Given the description of an element on the screen output the (x, y) to click on. 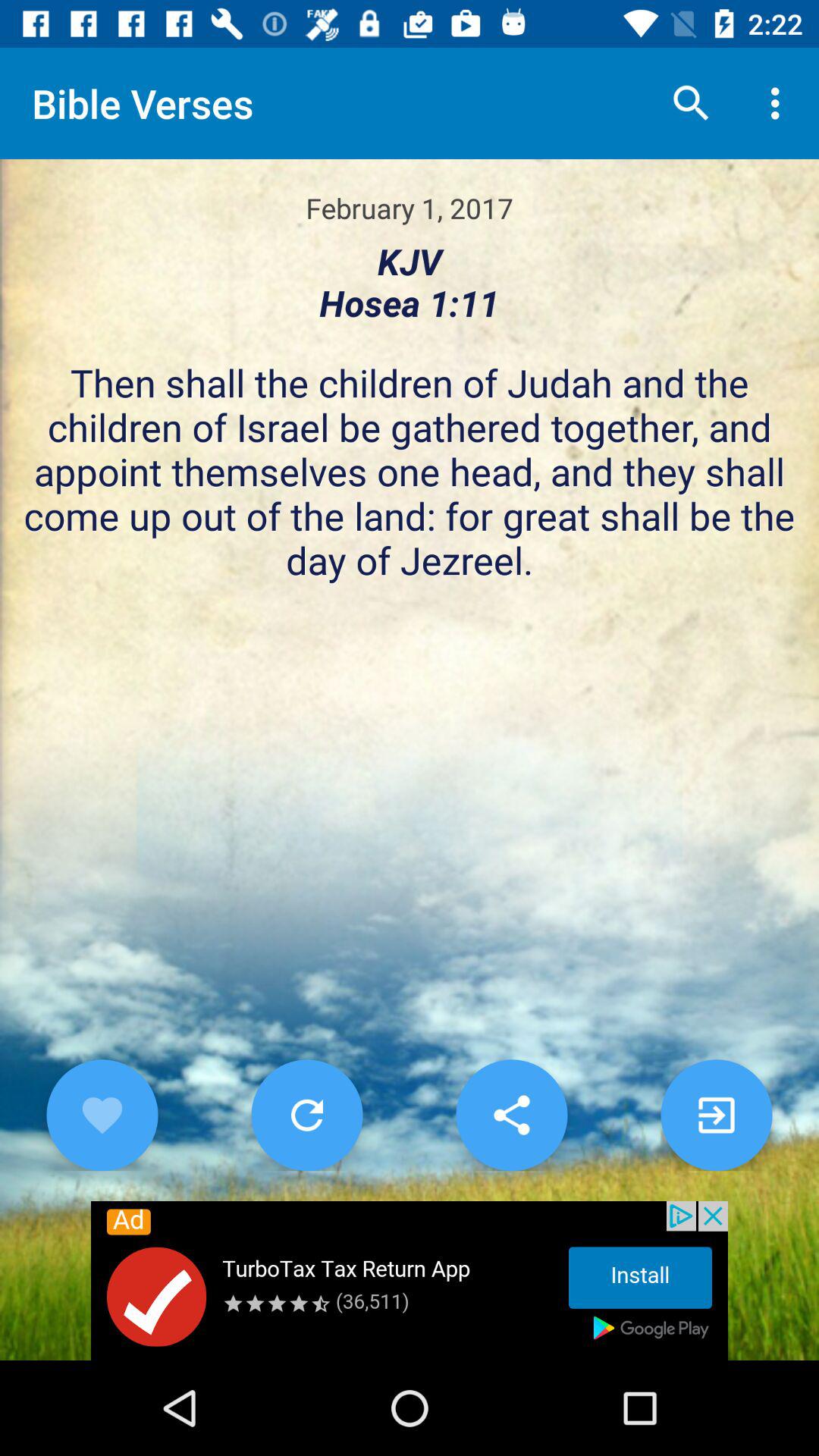
go to refresh (306, 1115)
